Given the description of an element on the screen output the (x, y) to click on. 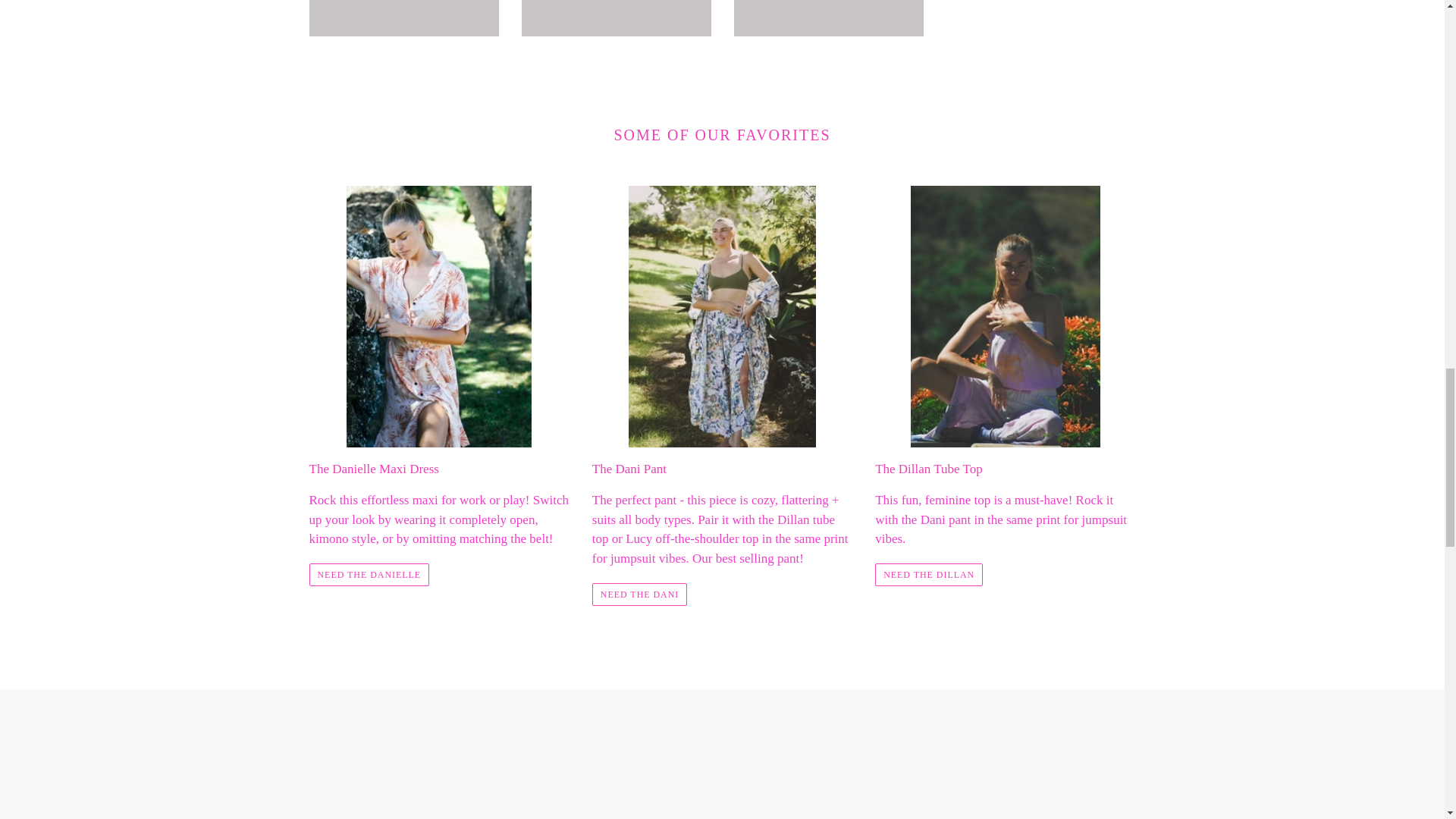
Kimonos (828, 18)
Pants (403, 18)
NEED THE DANIELLE (368, 574)
NEED THE DILLAN (928, 574)
NEED THE DANI (639, 594)
Shorts (616, 18)
